Given the description of an element on the screen output the (x, y) to click on. 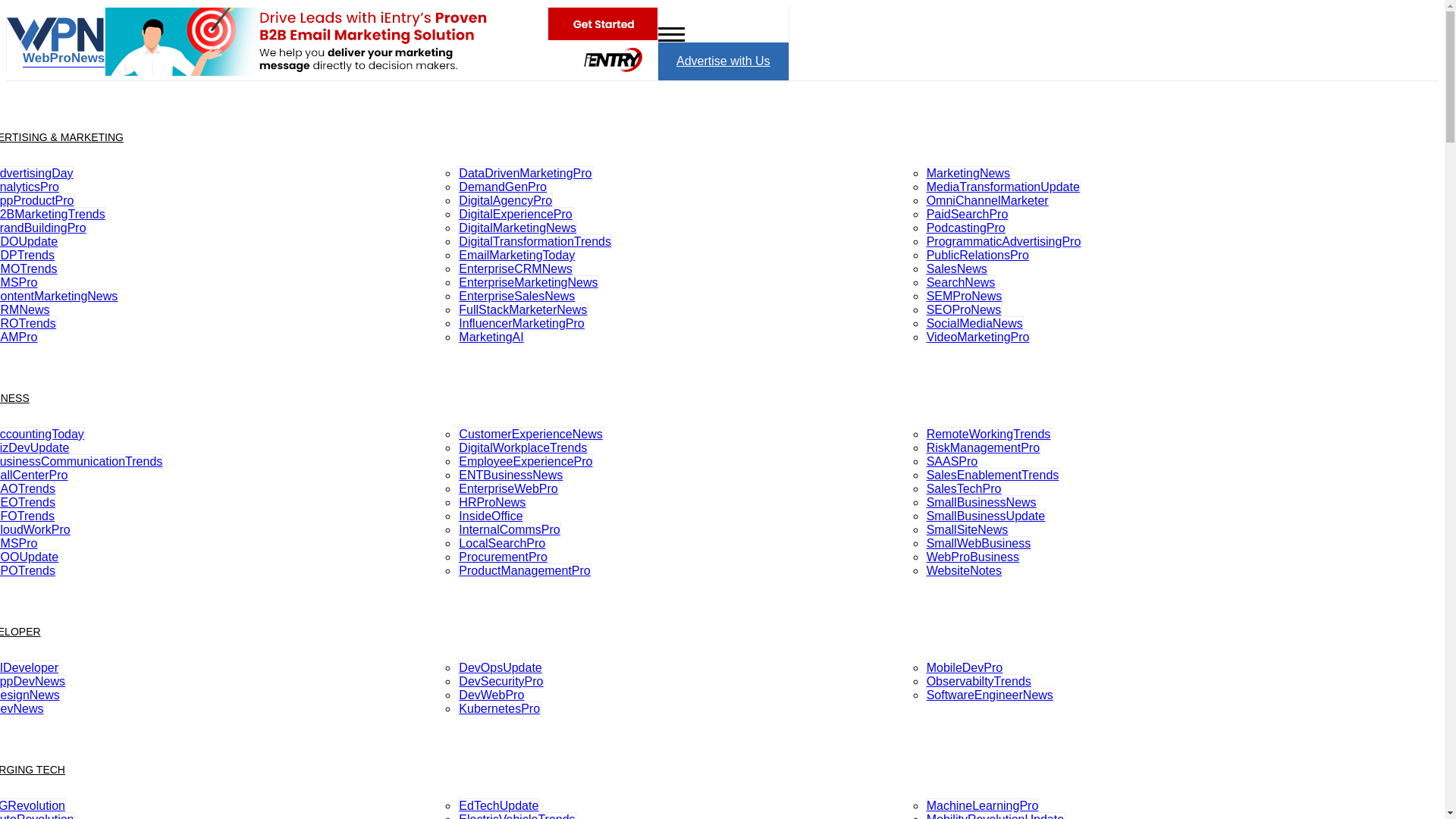
MediaTransformationUpdate (1003, 186)
CMOTrends (29, 268)
AppProductPro (37, 200)
EnterpriseSalesNews (516, 296)
InfluencerMarketingPro (521, 323)
B2BMarketingTrends (53, 214)
SearchNews (960, 282)
DataDrivenMarketingPro (525, 173)
PublicRelationsPro (977, 255)
CRMNews (24, 309)
EnterpriseMarketingNews (528, 282)
DigitalAgencyPro (505, 200)
CROTrends (28, 323)
ContentMarketingNews (58, 296)
FullStackMarketerNews (523, 309)
